Given the description of an element on the screen output the (x, y) to click on. 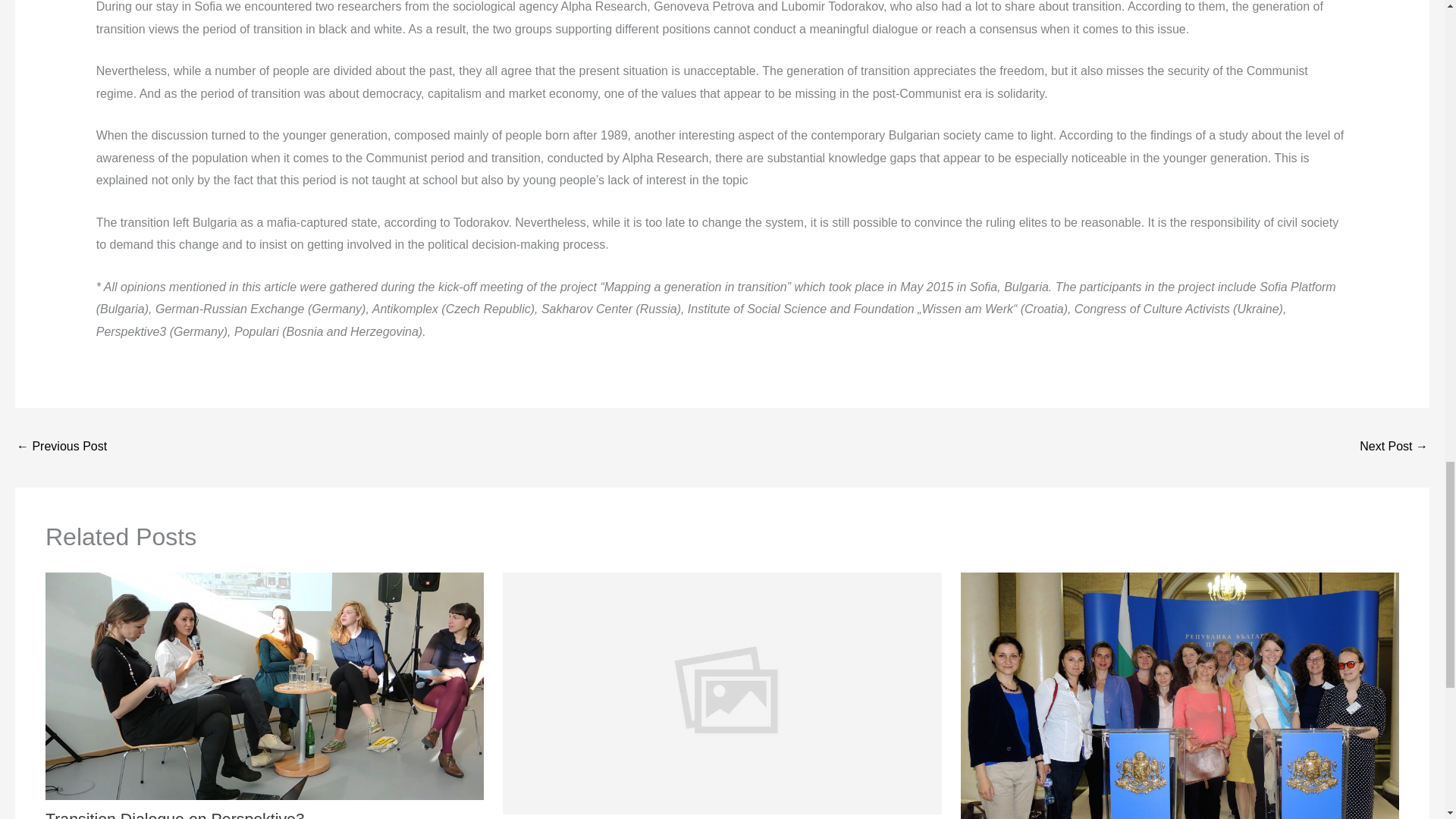
1st meeting - May 2015 Sofia (1393, 447)
Kick Off Workshop Sofia - Spring 2015 (61, 447)
